Given the description of an element on the screen output the (x, y) to click on. 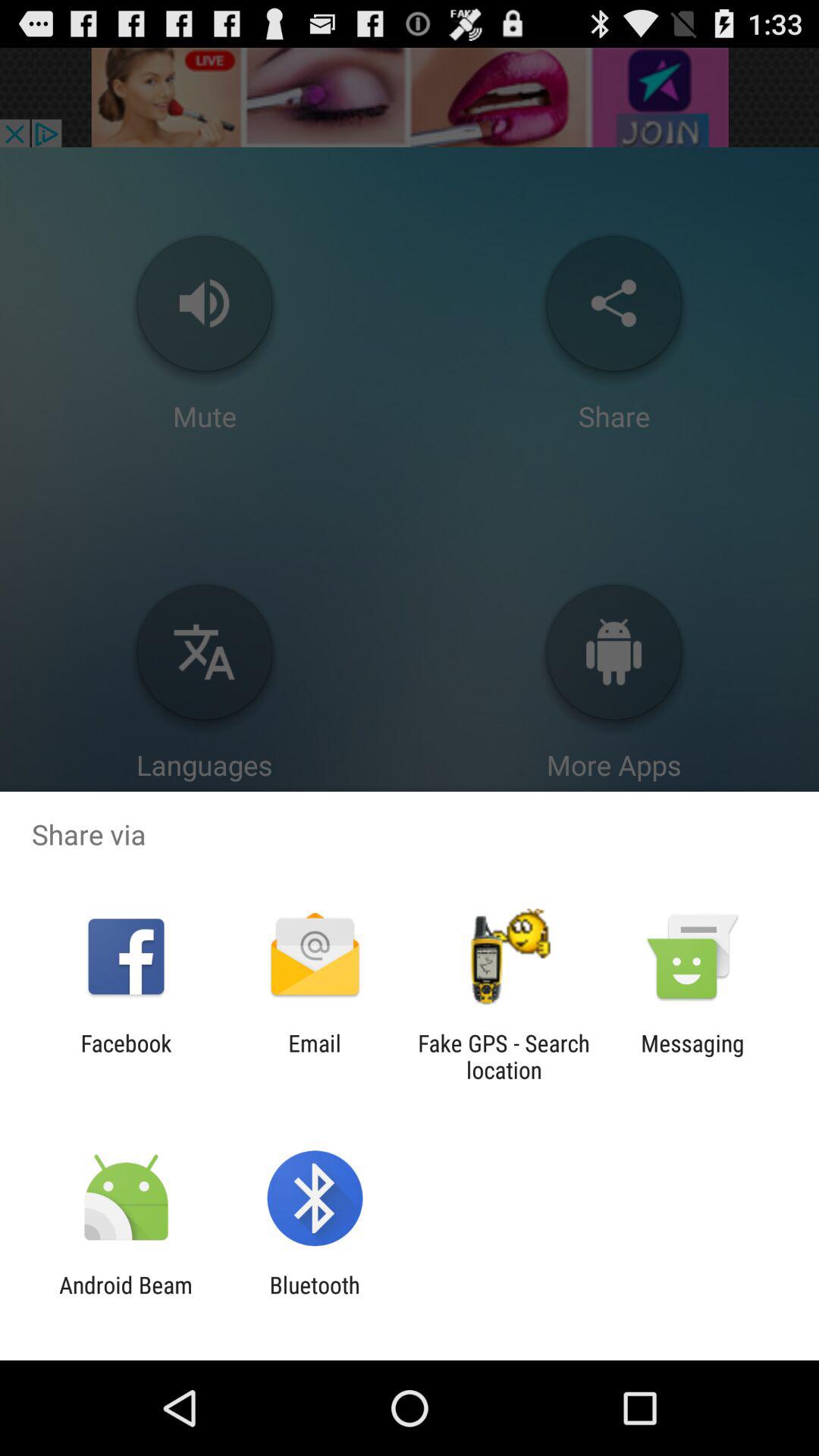
scroll until the email app (314, 1056)
